Given the description of an element on the screen output the (x, y) to click on. 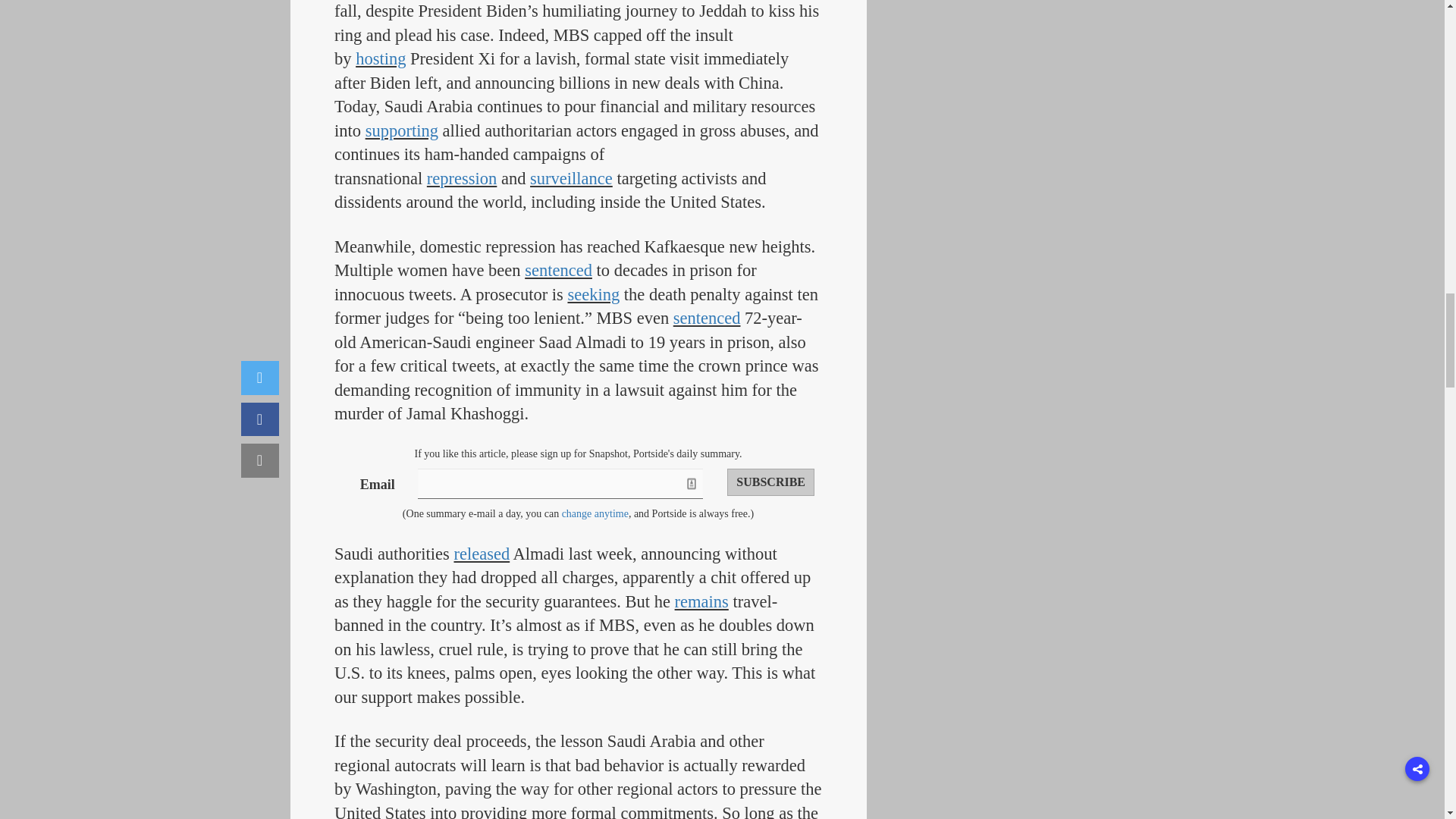
supporting (401, 130)
repression (461, 178)
Subscribe (769, 482)
hosting (380, 58)
